Given the description of an element on the screen output the (x, y) to click on. 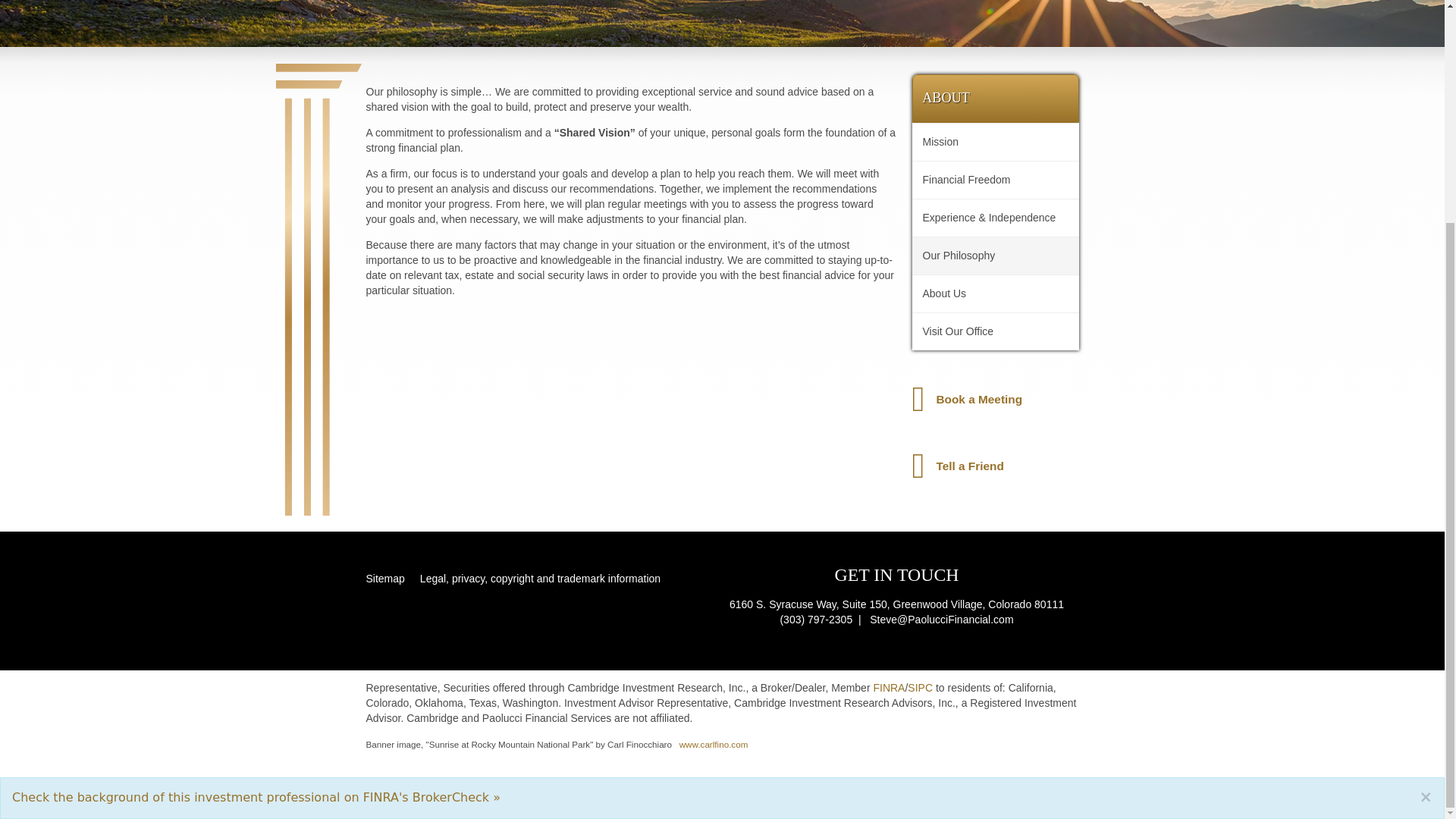
Our Philosophy (994, 255)
FINRA (888, 687)
About Us (994, 293)
Tell a Friend (994, 466)
Sitemap (388, 578)
Mission (994, 141)
Financial Freedom (994, 180)
Visit Our Office (994, 331)
SIPC (921, 687)
Book a Meeting (994, 399)
www.carlfino.com (713, 744)
Legal, privacy, copyright and trademark information (536, 578)
